Given the description of an element on the screen output the (x, y) to click on. 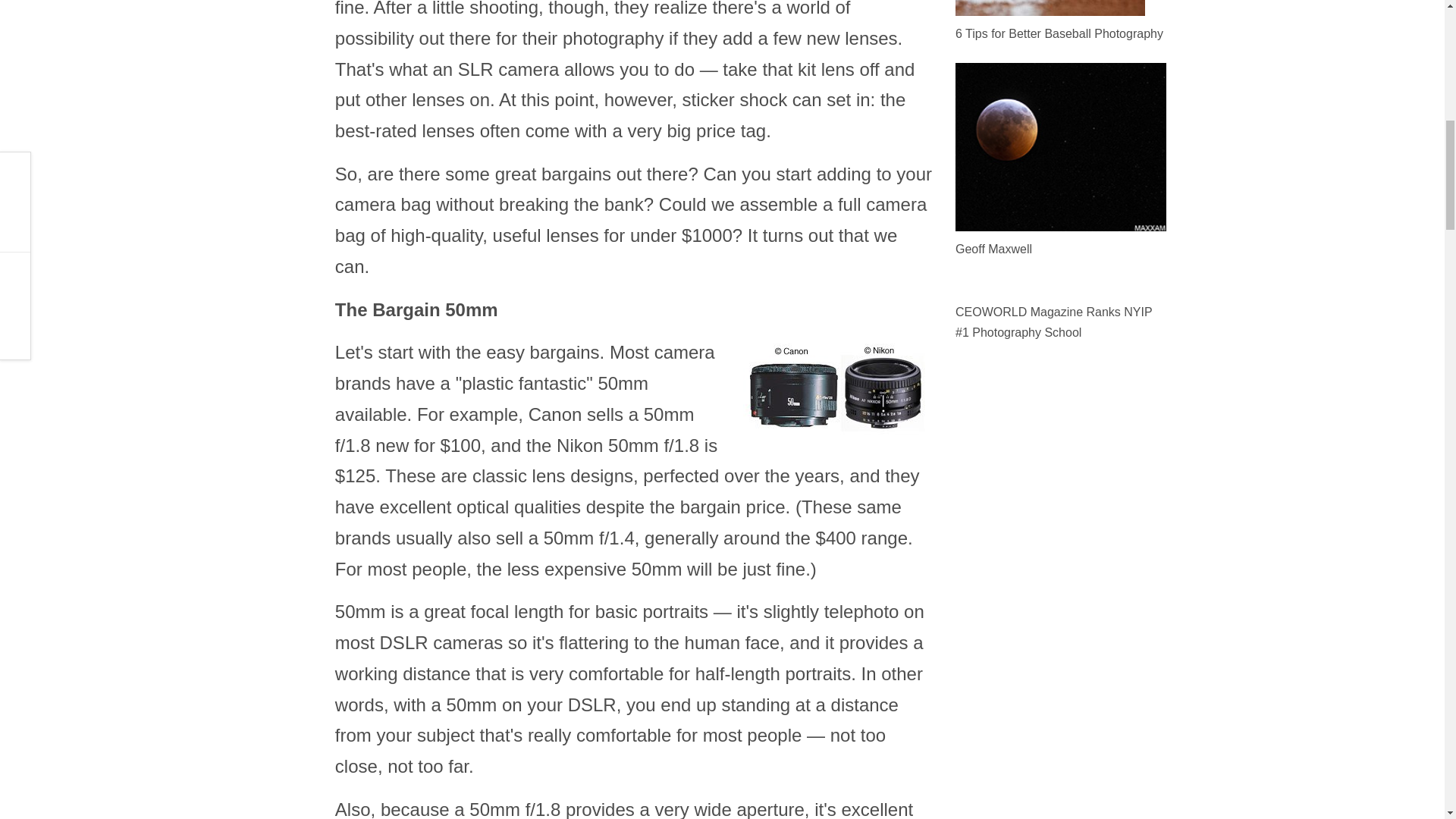
Geoff Maxwell (1060, 146)
6 Tips for Better Baseball Photography (1049, 7)
Geoff Maxwell (1060, 146)
6 Tips for Better Baseball Photography (1059, 33)
Lenses 1 (837, 390)
Geoff Maxwell (993, 248)
